Given the description of an element on the screen output the (x, y) to click on. 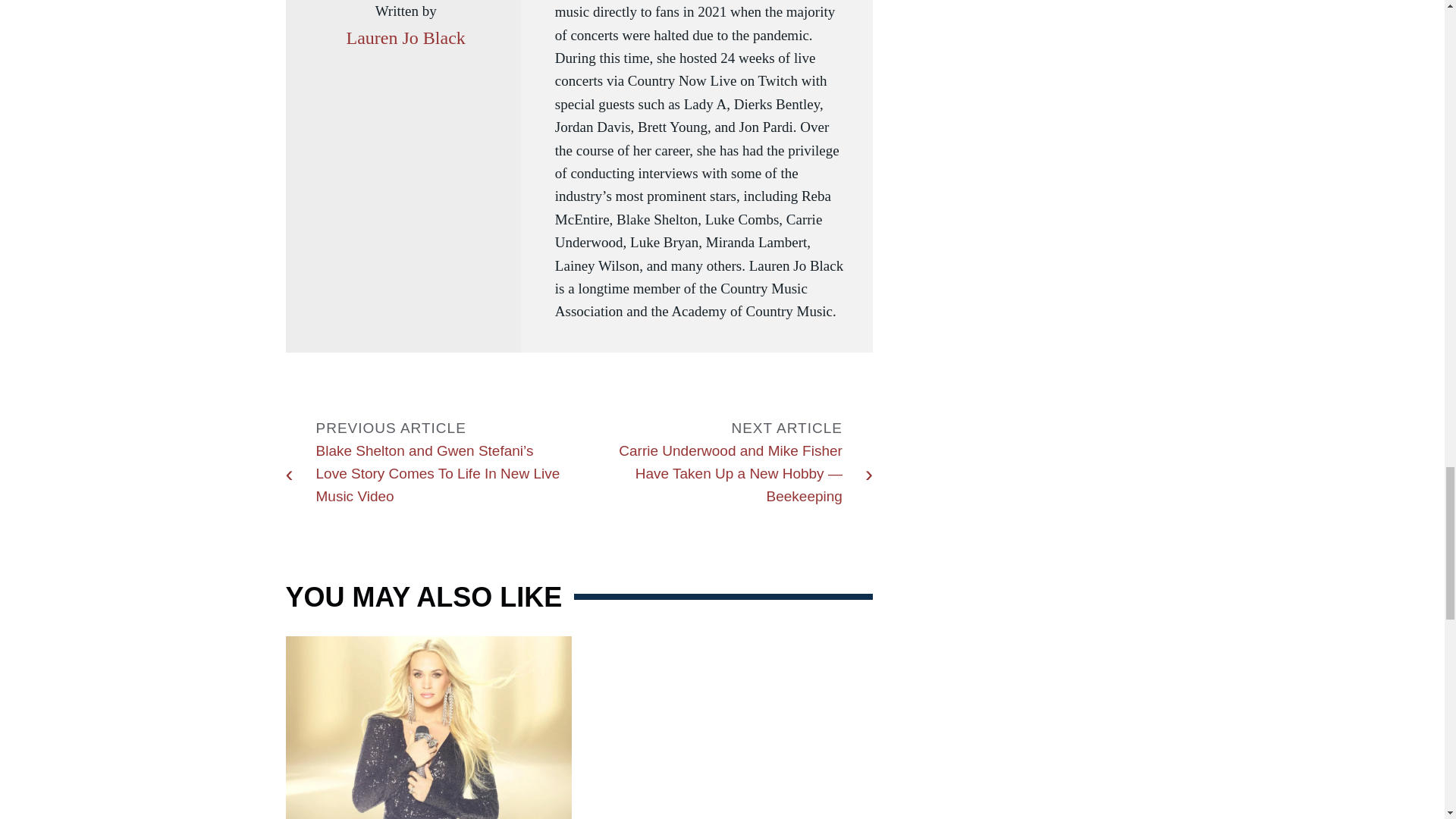
Lauren Jo Black (405, 37)
